Given the description of an element on the screen output the (x, y) to click on. 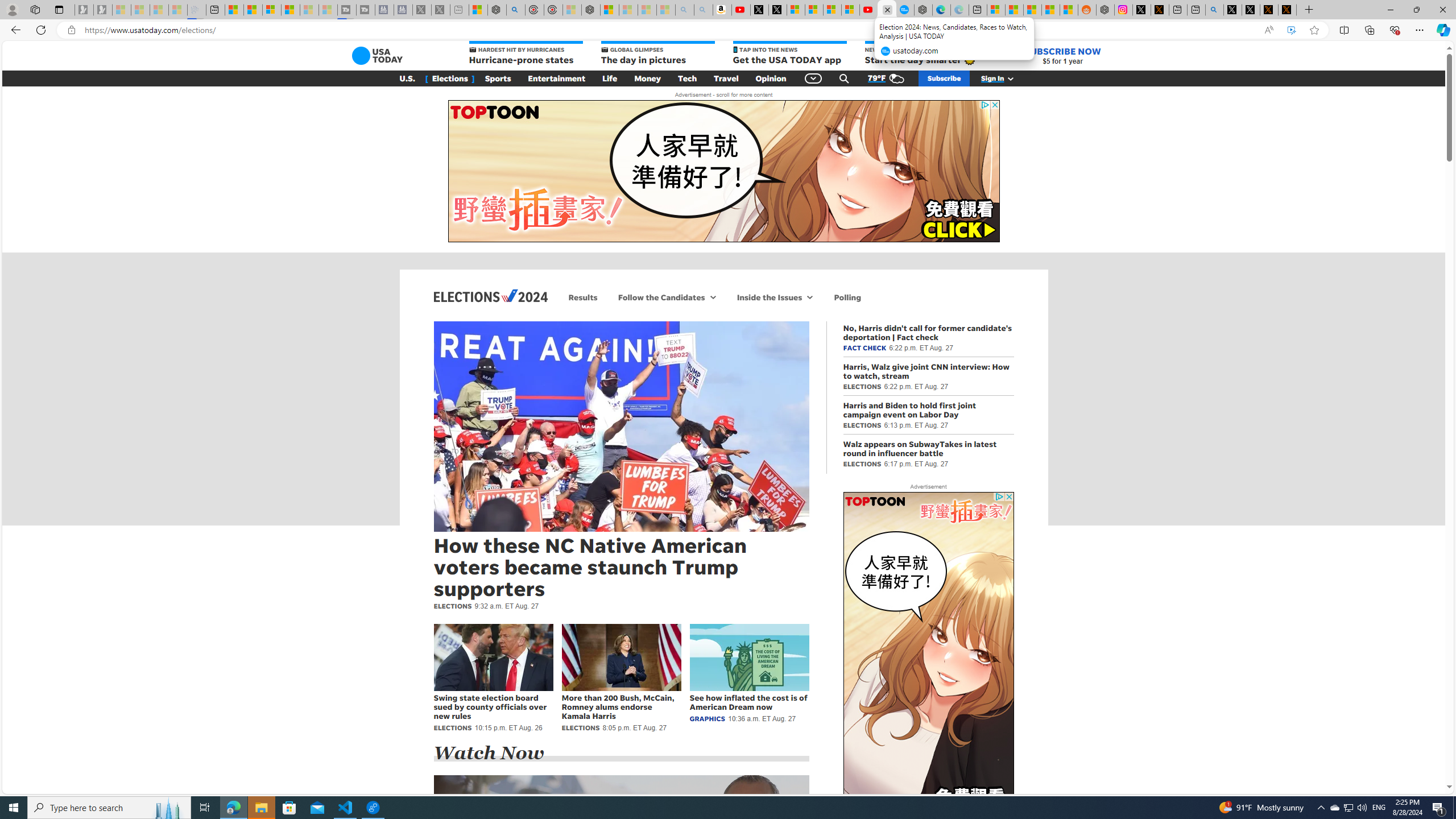
Overview (271, 9)
Nordace - Nordace has arrived Hong Kong (923, 9)
Class: gnt_n_dd_bt_svg (813, 78)
SUBSCRIBE NOW $5 for 1 year (1062, 55)
Travel (725, 78)
Gloom - YouTube (868, 9)
